Given the description of an element on the screen output the (x, y) to click on. 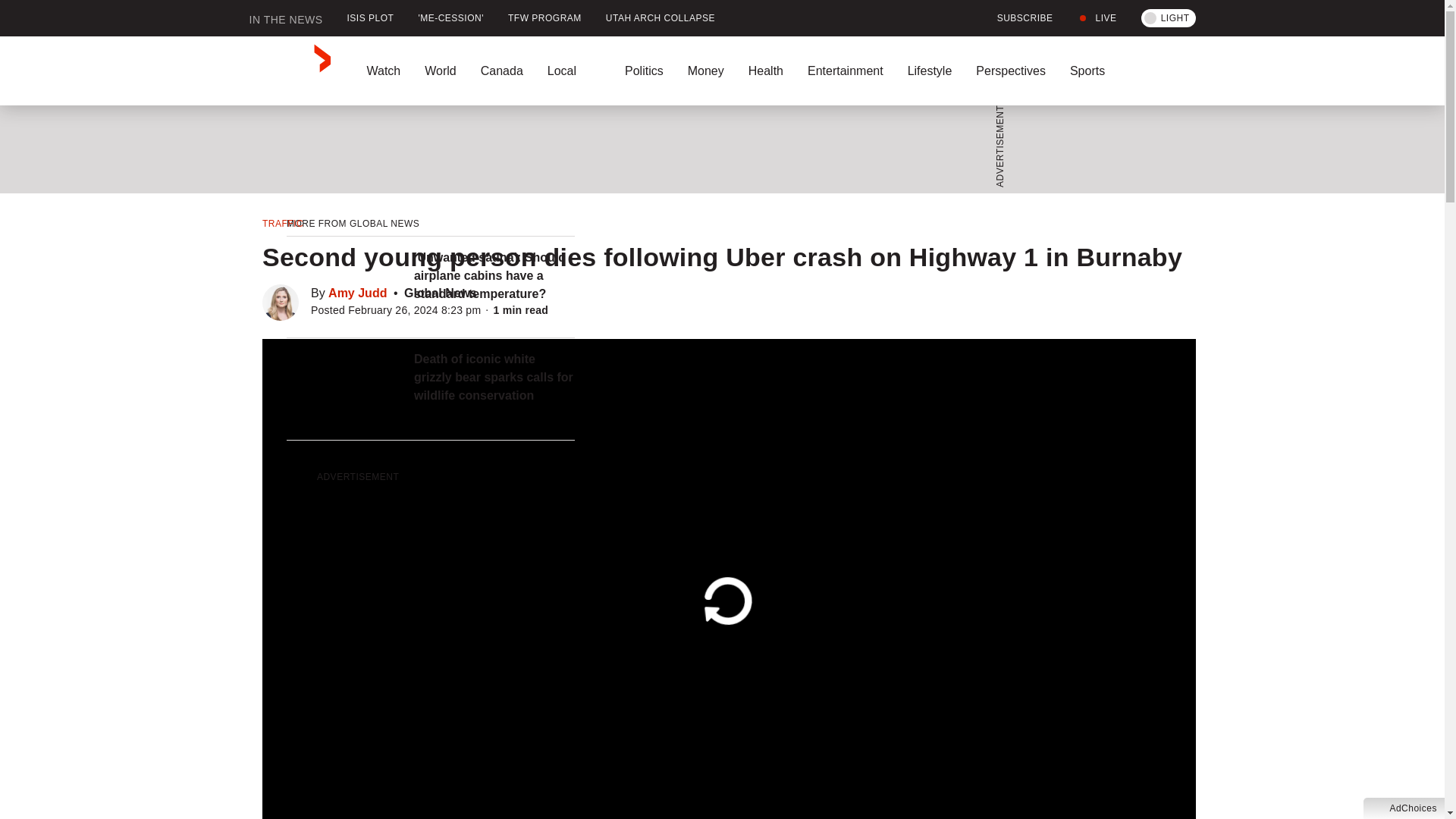
LIVE (1096, 18)
SUBSCRIBE (1015, 18)
Posts by Amy Judd (358, 293)
TFW PROGRAM (545, 18)
ISIS PLOT (370, 18)
Politics (643, 70)
Local (573, 70)
Lifestyle (929, 70)
